Given the description of an element on the screen output the (x, y) to click on. 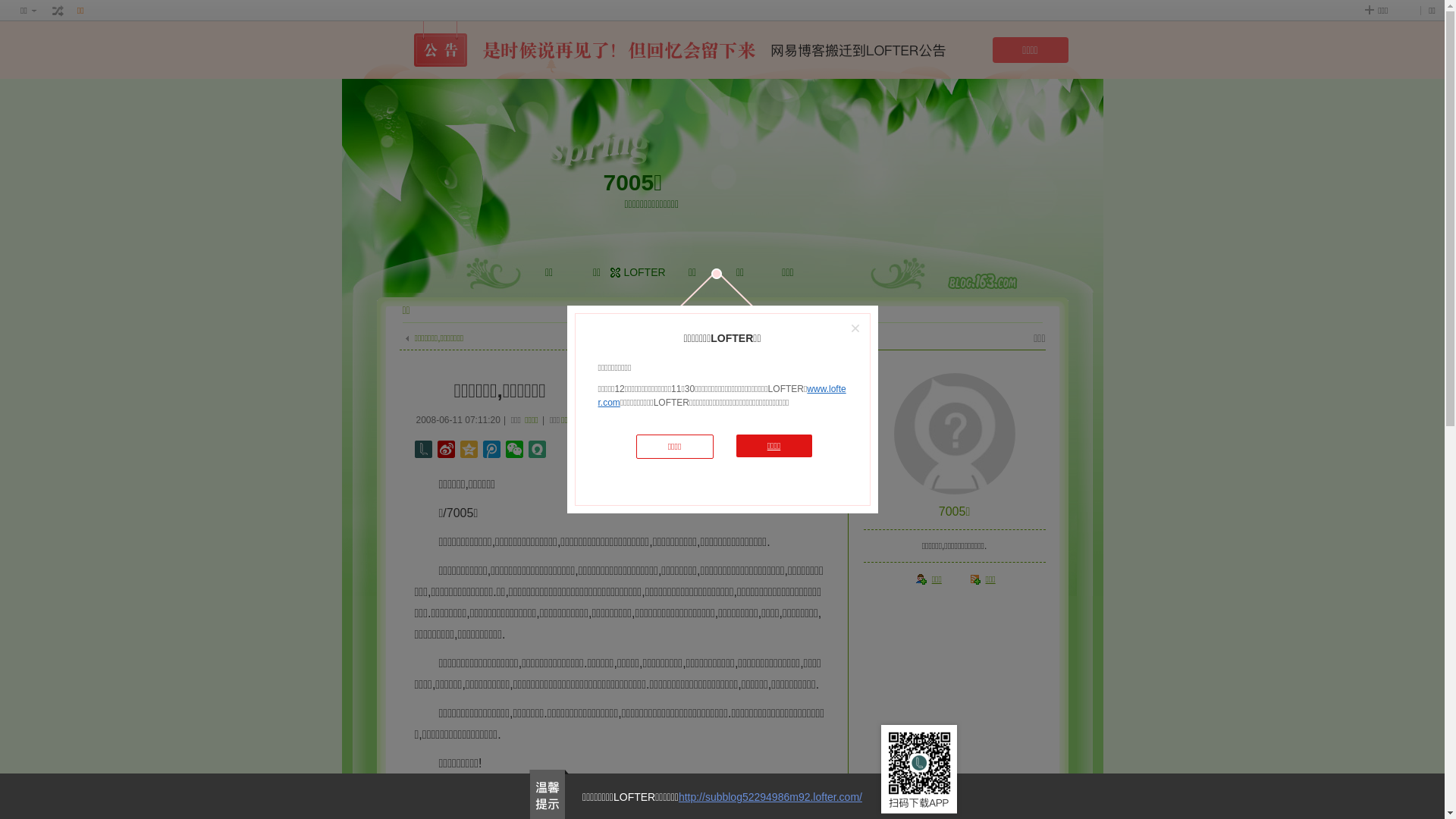
http://subblog52294986m92.lofter.com/ Element type: text (770, 796)
LOFTER Element type: text (644, 271)
  Element type: text (58, 10)
www.lofter.com Element type: text (721, 395)
